Given the description of an element on the screen output the (x, y) to click on. 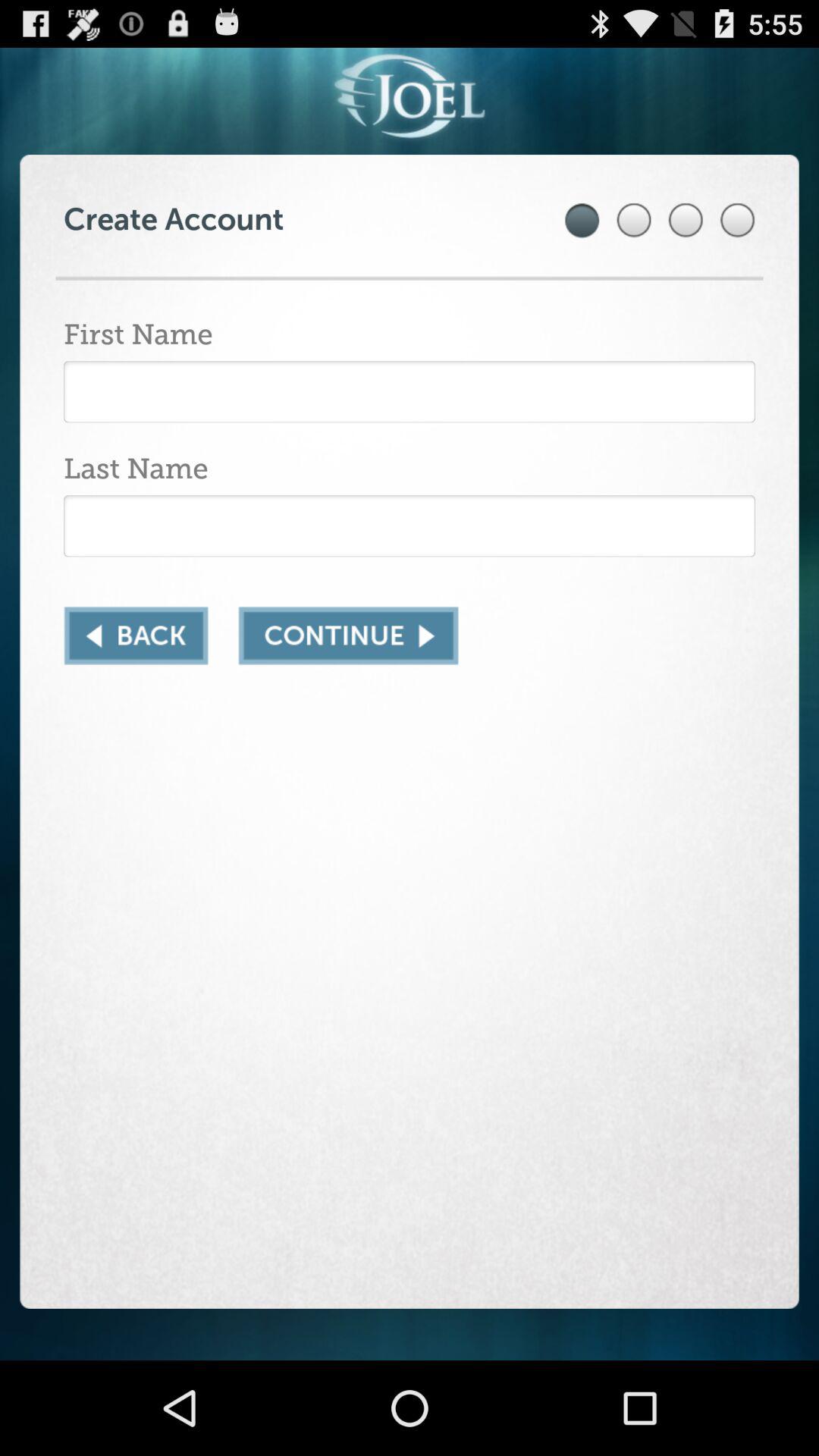
fill last name field (409, 525)
